Given the description of an element on the screen output the (x, y) to click on. 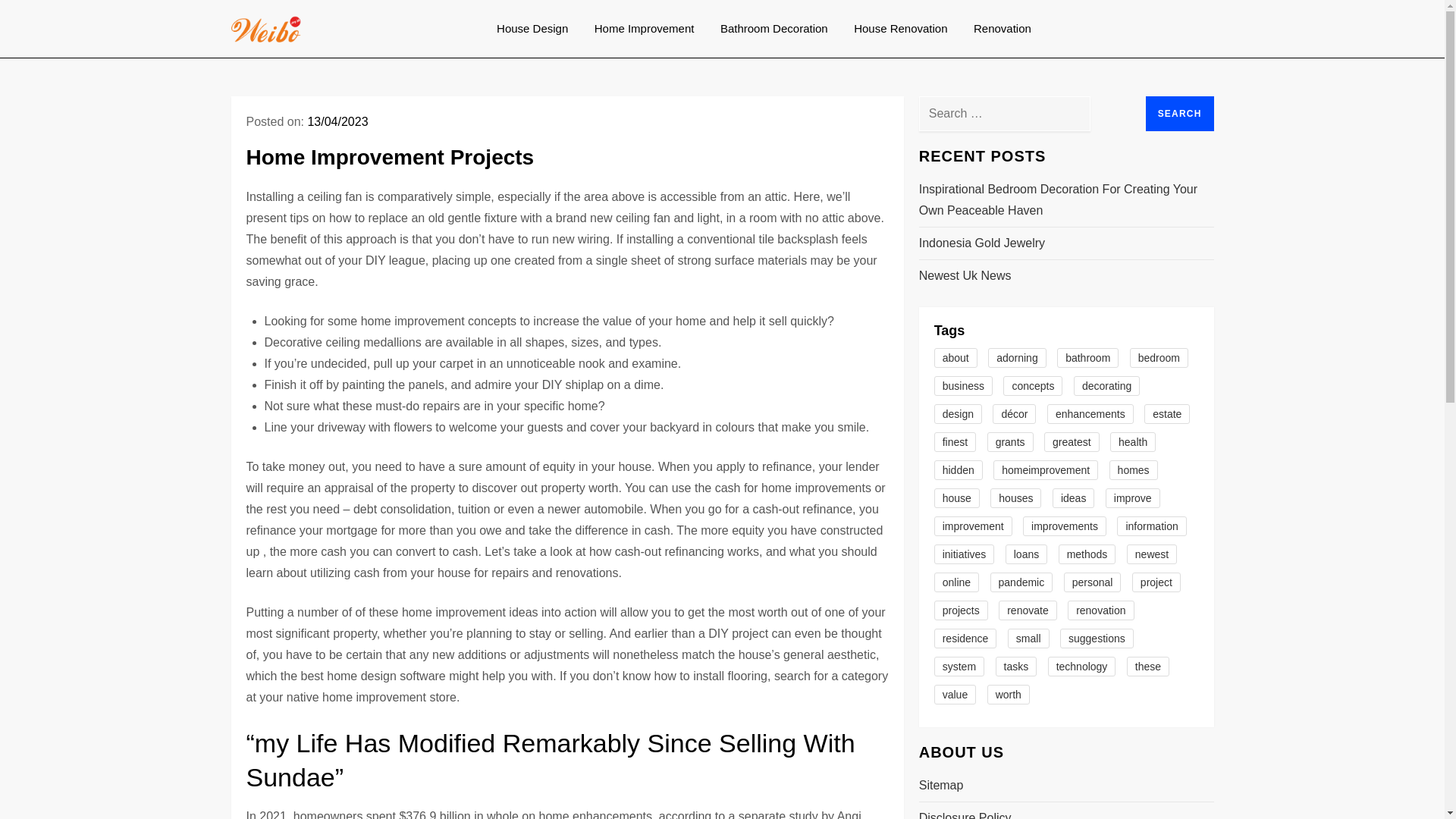
Home Improvement (644, 28)
about (955, 357)
WB (321, 41)
bathroom (1087, 357)
finest (954, 442)
ideas (1073, 497)
greatest (1071, 442)
Search (1179, 113)
Indonesia Gold Jewelry (981, 242)
house (956, 497)
